Given the description of an element on the screen output the (x, y) to click on. 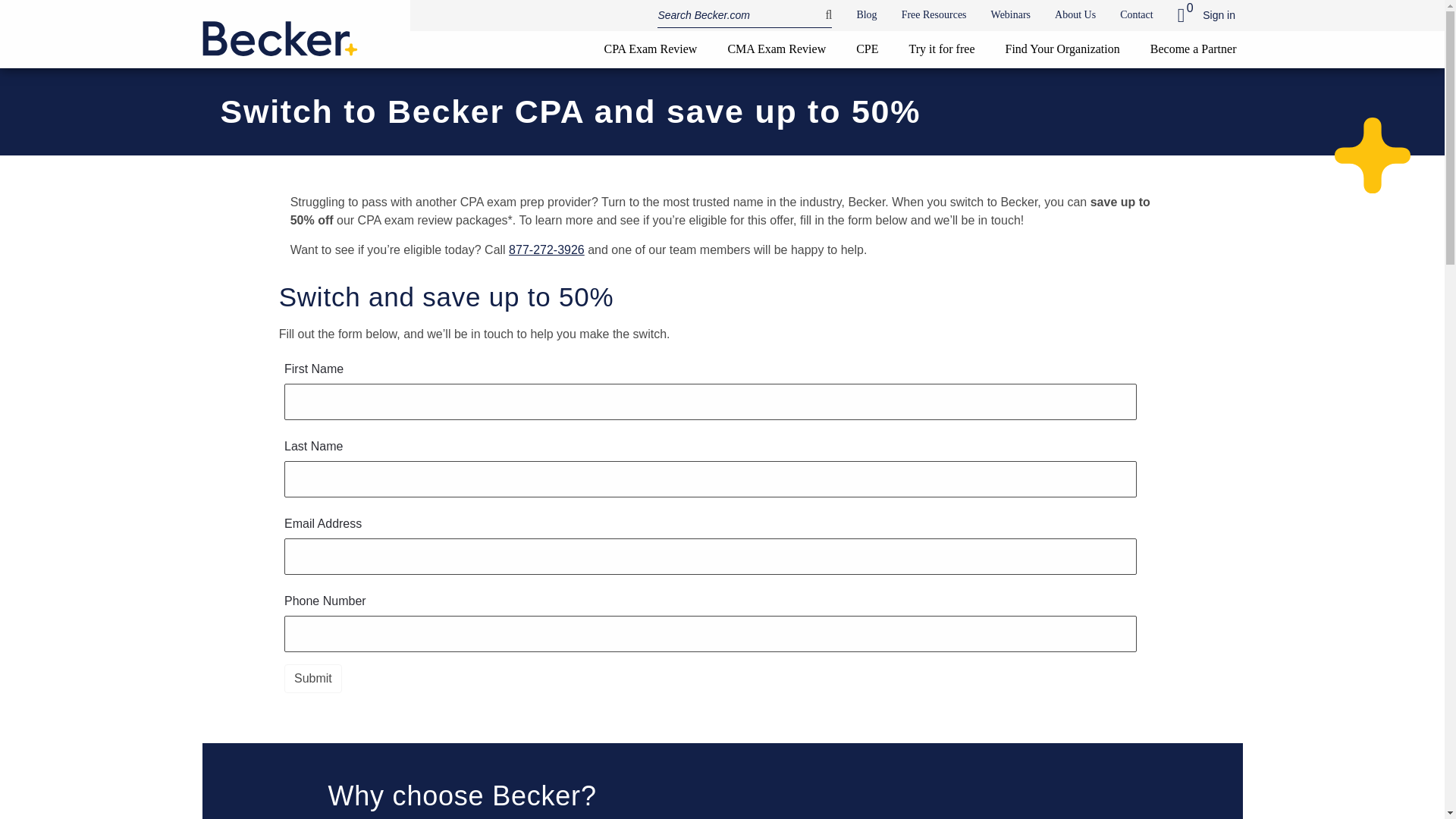
Webinars (1010, 14)
Submit (312, 678)
Home (279, 32)
CPA Exam Review (649, 49)
